Given the description of an element on the screen output the (x, y) to click on. 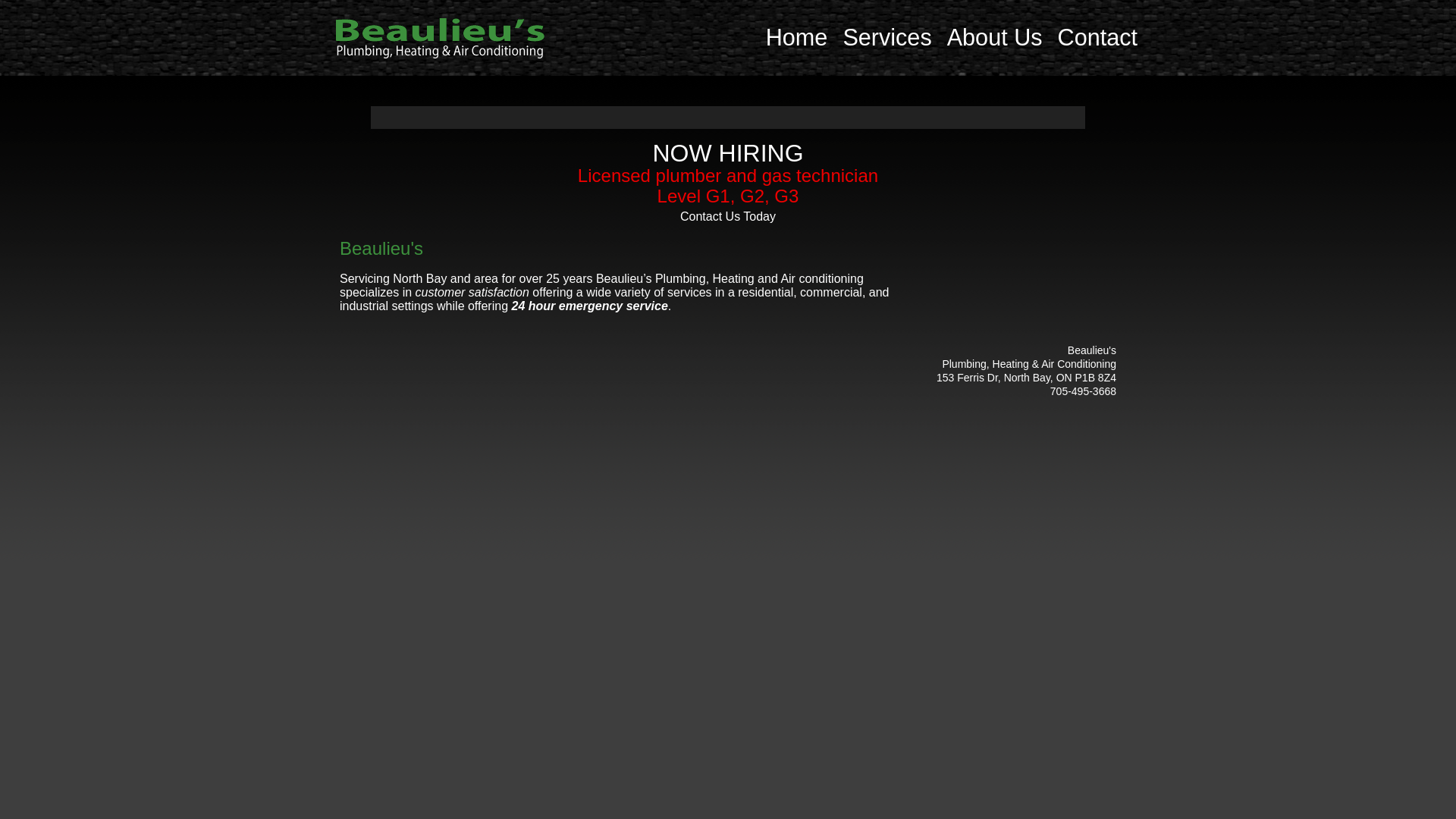
Services Element type: text (886, 37)
Contact Element type: text (1097, 37)
About Us Element type: text (994, 37)
Home Element type: text (796, 37)
Contact Us Today Element type: text (727, 216)
